Given the description of an element on the screen output the (x, y) to click on. 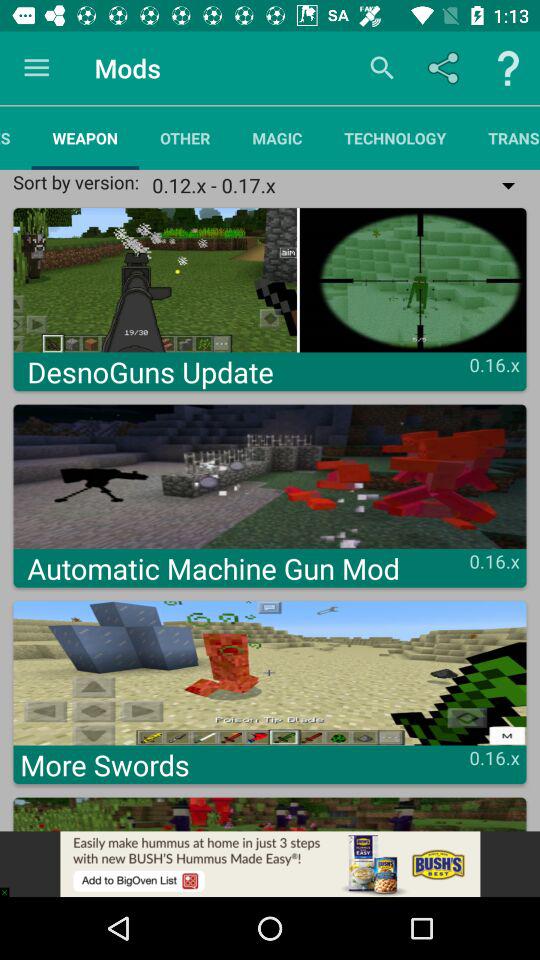
turn off icon next to the magic item (185, 137)
